Given the description of an element on the screen output the (x, y) to click on. 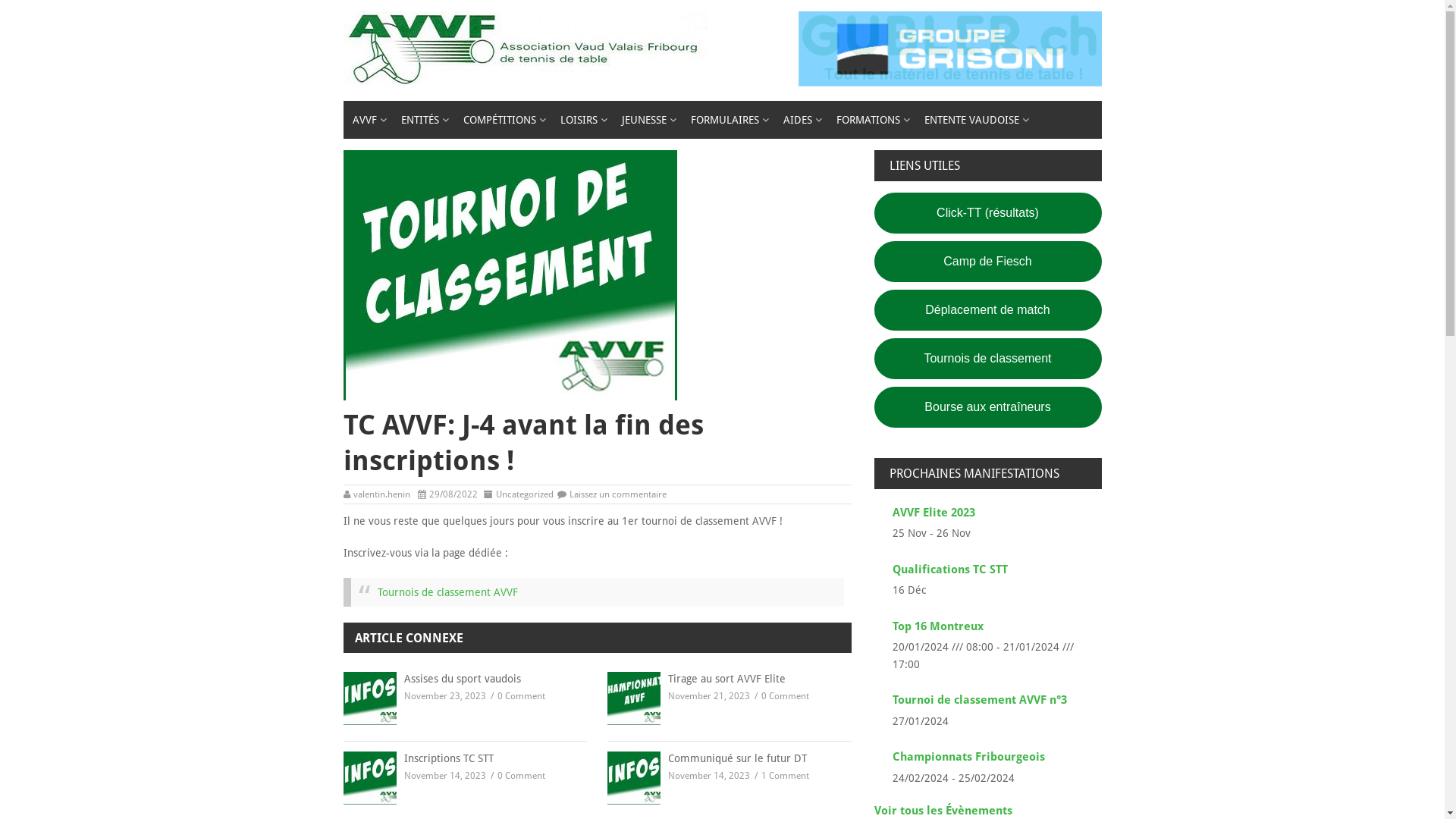
ENTENTE VAUDOISE Element type: text (973, 119)
Qualifications TC STT Element type: text (949, 569)
Inscriptions TC STT Element type: text (464, 758)
Championnats Fribourgeois Element type: text (967, 756)
29/08/2022 Element type: text (453, 494)
Uncategorized Element type: text (524, 494)
Camp de Fiesch Element type: text (987, 261)
LOISIRS Element type: text (580, 119)
AVVF Elite 2023 Element type: text (932, 512)
FORMATIONS Element type: text (870, 119)
Passer au contenu Element type: text (0, 0)
Top 16 Montreux Element type: text (936, 626)
Tournois de classement Element type: text (987, 358)
FORMULAIRES Element type: text (726, 119)
JEUNESSE Element type: text (646, 119)
AVVF Element type: text (366, 119)
valentin.henin Element type: text (381, 494)
Tournois de classement AVVF Element type: text (447, 592)
Tirage au sort AVVF Elite Element type: text (729, 679)
Laissez un commentaire Element type: text (616, 494)
AIDES Element type: text (799, 119)
Assises du sport vaudois Element type: text (464, 679)
